Given the description of an element on the screen output the (x, y) to click on. 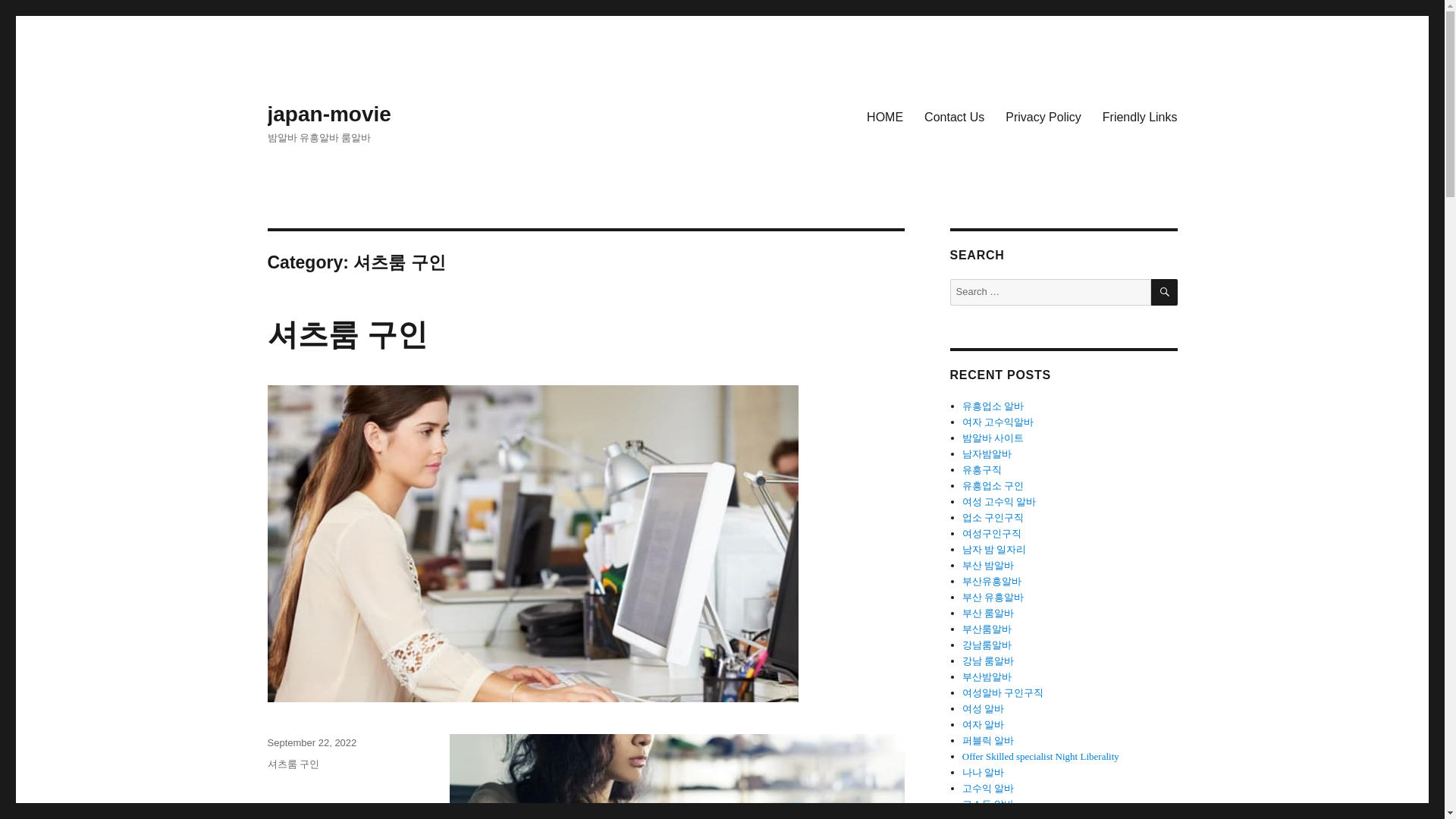
Privacy Policy (1043, 116)
Offer Skilled specialist Night Liberality (1040, 756)
Friendly Links (1140, 116)
Contact Us (954, 116)
SEARCH (1164, 292)
japan-movie (328, 114)
September 22, 2022 (311, 742)
HOME (885, 116)
